Given the description of an element on the screen output the (x, y) to click on. 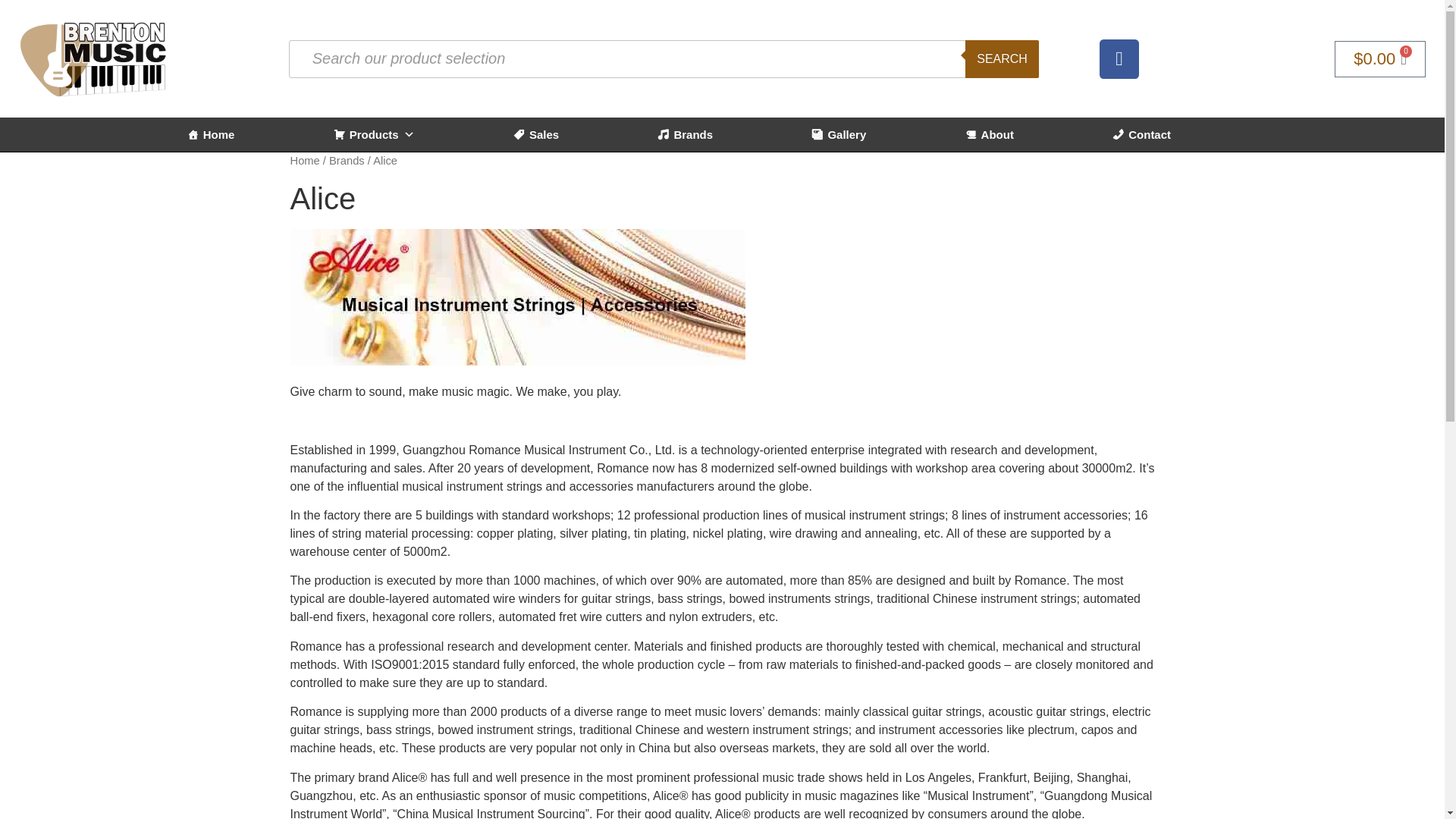
Products (373, 134)
Home (210, 134)
SEARCH (1002, 57)
